Given the description of an element on the screen output the (x, y) to click on. 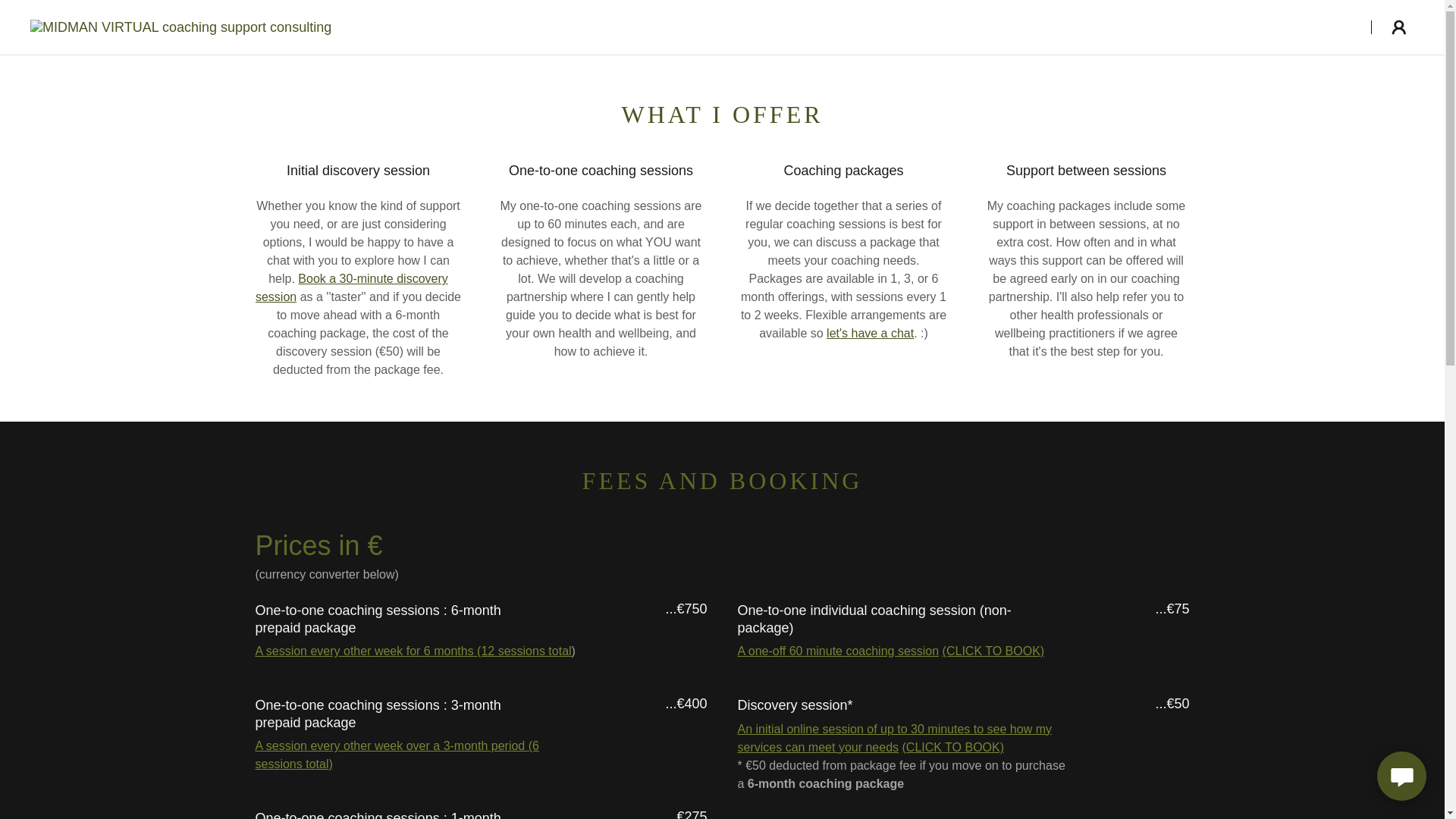
let's have a chat (870, 332)
Book a 30-minute discovery session (352, 287)
A one-off 60 minute coaching session (837, 650)
